Given the description of an element on the screen output the (x, y) to click on. 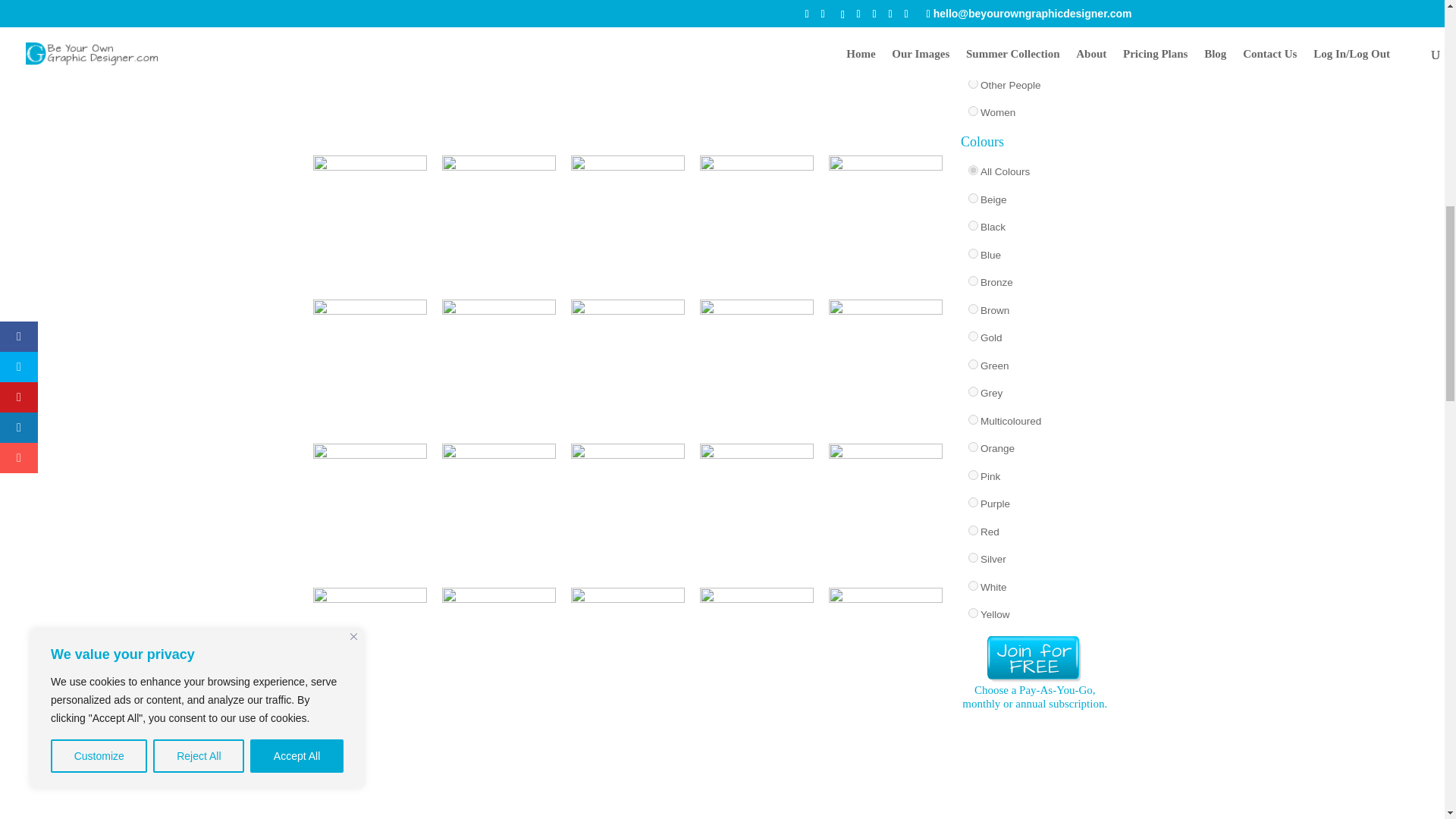
men (973, 28)
bronze (973, 280)
black (973, 225)
office-desk-it (973, 55)
other-people (973, 83)
beige (973, 198)
women (973, 111)
love (973, 2)
blue (973, 253)
